Given the description of an element on the screen output the (x, y) to click on. 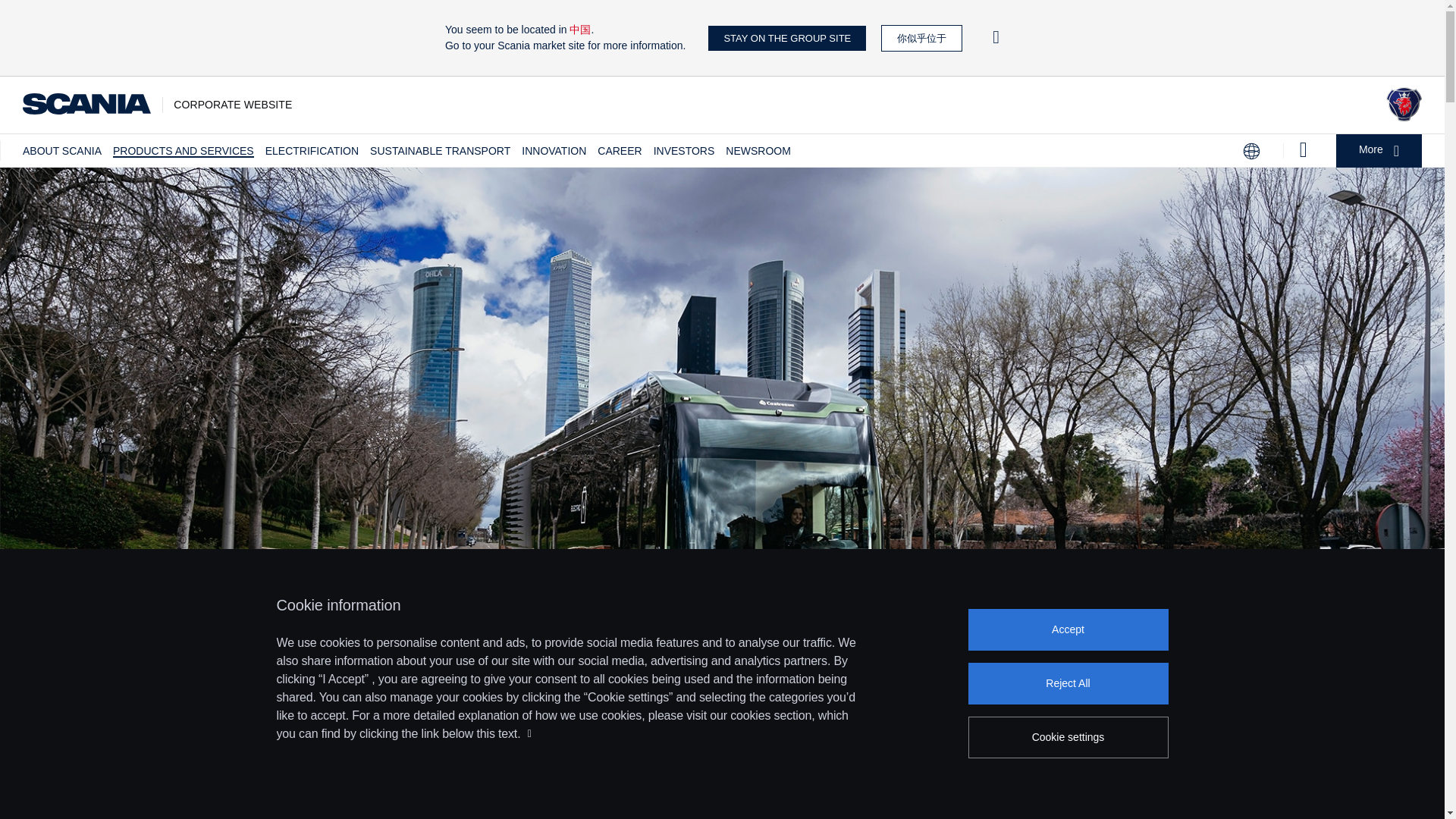
STAY ON THE GROUP SITE (786, 37)
Scania (87, 104)
Scania (1404, 117)
Country selector (1251, 150)
Electric bus solutions (722, 748)
ABOUT SCANIA (62, 150)
